Given the description of an element on the screen output the (x, y) to click on. 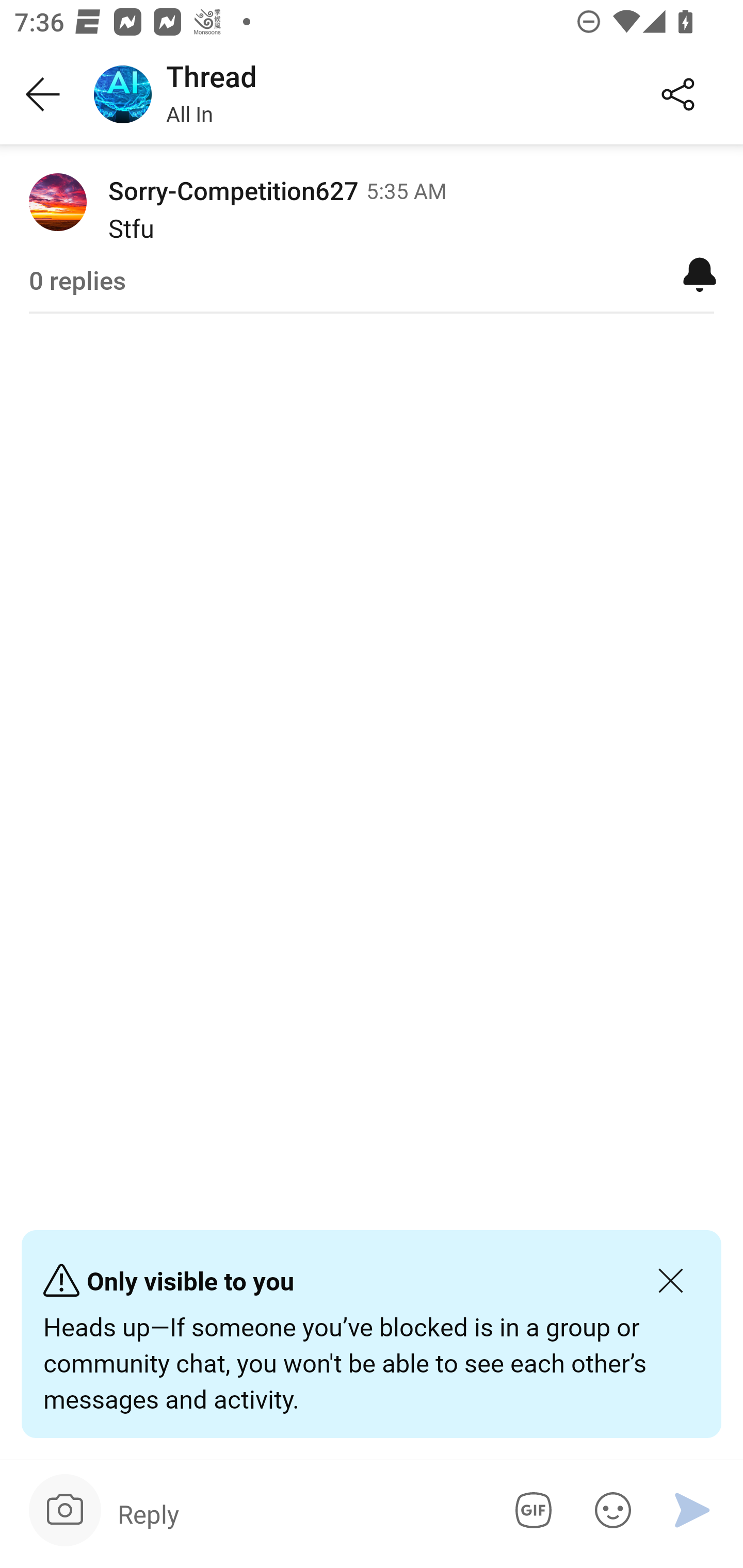
Back (43, 94)
Share (677, 94)
Mute (699, 273)
Upload image (64, 1510)
Add GIF (529, 1510)
Add sticker (609, 1510)
Send message (692, 1510)
Message Reply (298, 1513)
